Given the description of an element on the screen output the (x, y) to click on. 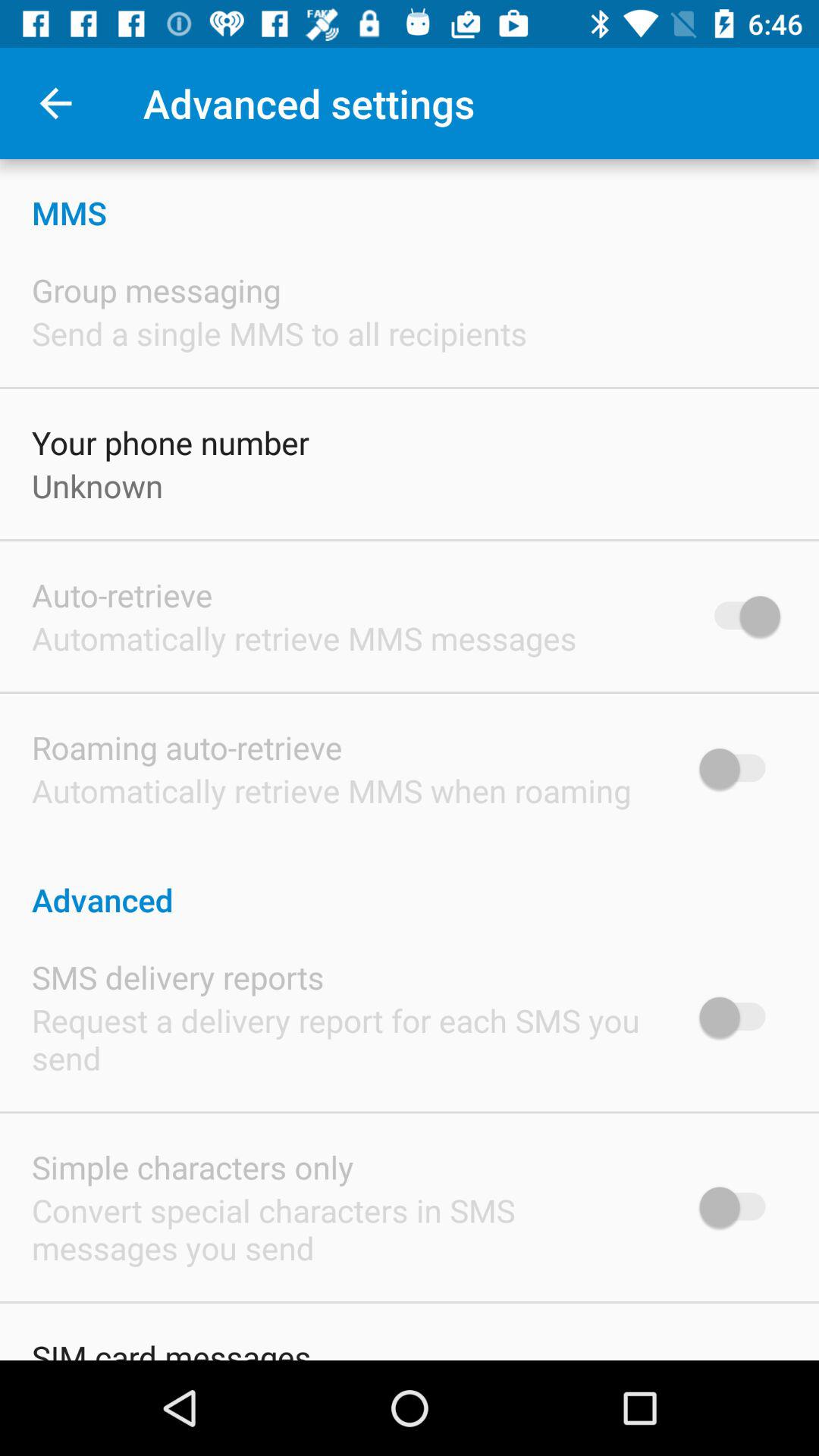
press icon to the left of the advanced settings (55, 103)
